Given the description of an element on the screen output the (x, y) to click on. 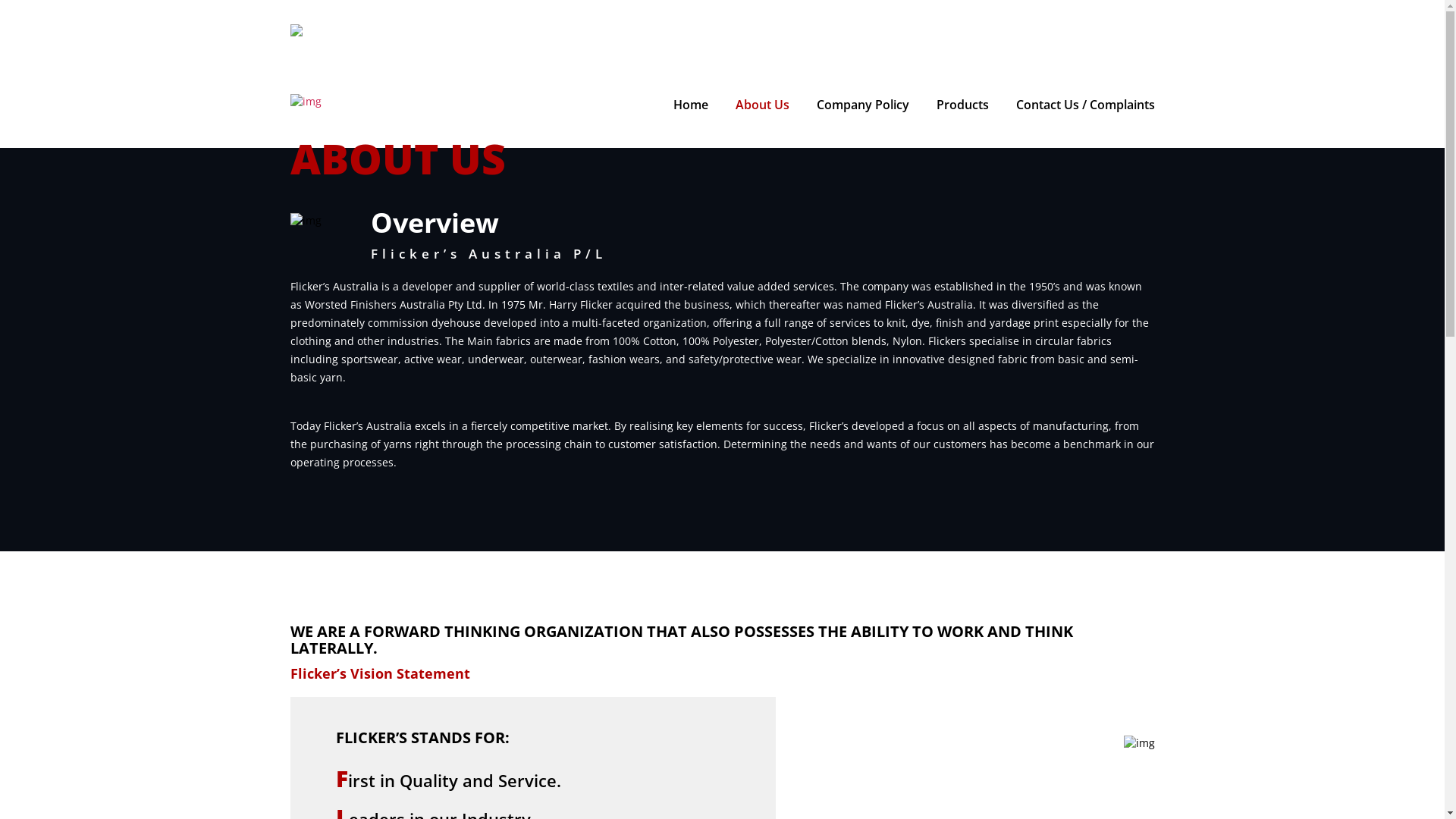
Company Policy Element type: text (861, 104)
Call US: (03) 9313 0100 Element type: text (394, 35)
Products Element type: text (961, 104)
Contact Us / Complaints Element type: text (1085, 104)
About Us Element type: text (762, 104)
Home Element type: text (690, 104)
